Given the description of an element on the screen output the (x, y) to click on. 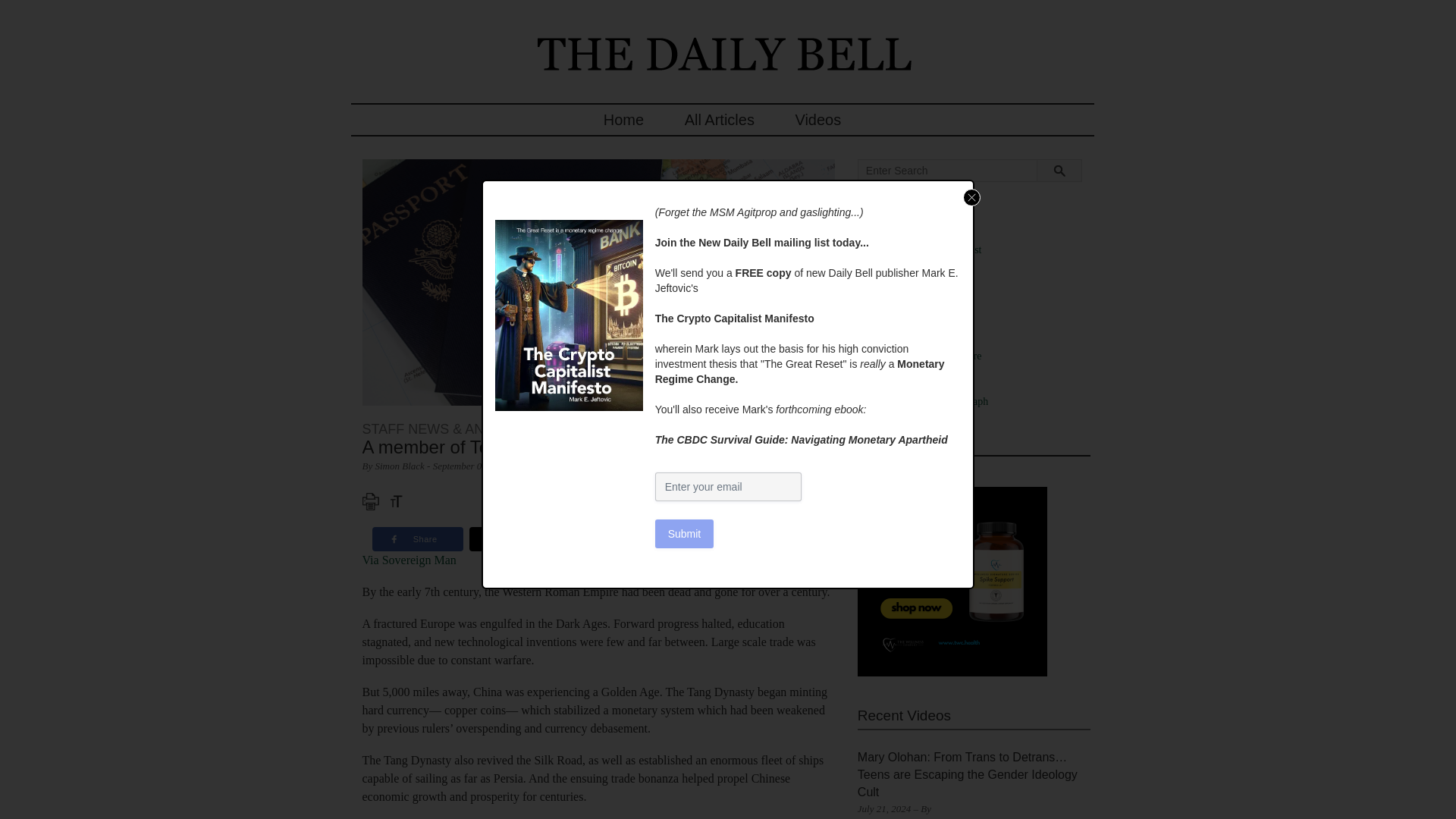
John Rubino (915, 386)
ZeroHedge (912, 431)
All Articles (719, 119)
The National Telegraph (938, 401)
DollarCollapse (920, 325)
Tom Woods (913, 416)
The Bitcoin Capitalist (934, 249)
Submit (684, 533)
Canadian Bitcoiners (931, 310)
Black Listed News (928, 279)
Bombthrower.com (928, 295)
Hard Facts (911, 370)
Doomberg (910, 340)
Home (623, 119)
Bitcoin Magazine (925, 265)
